Given the description of an element on the screen output the (x, y) to click on. 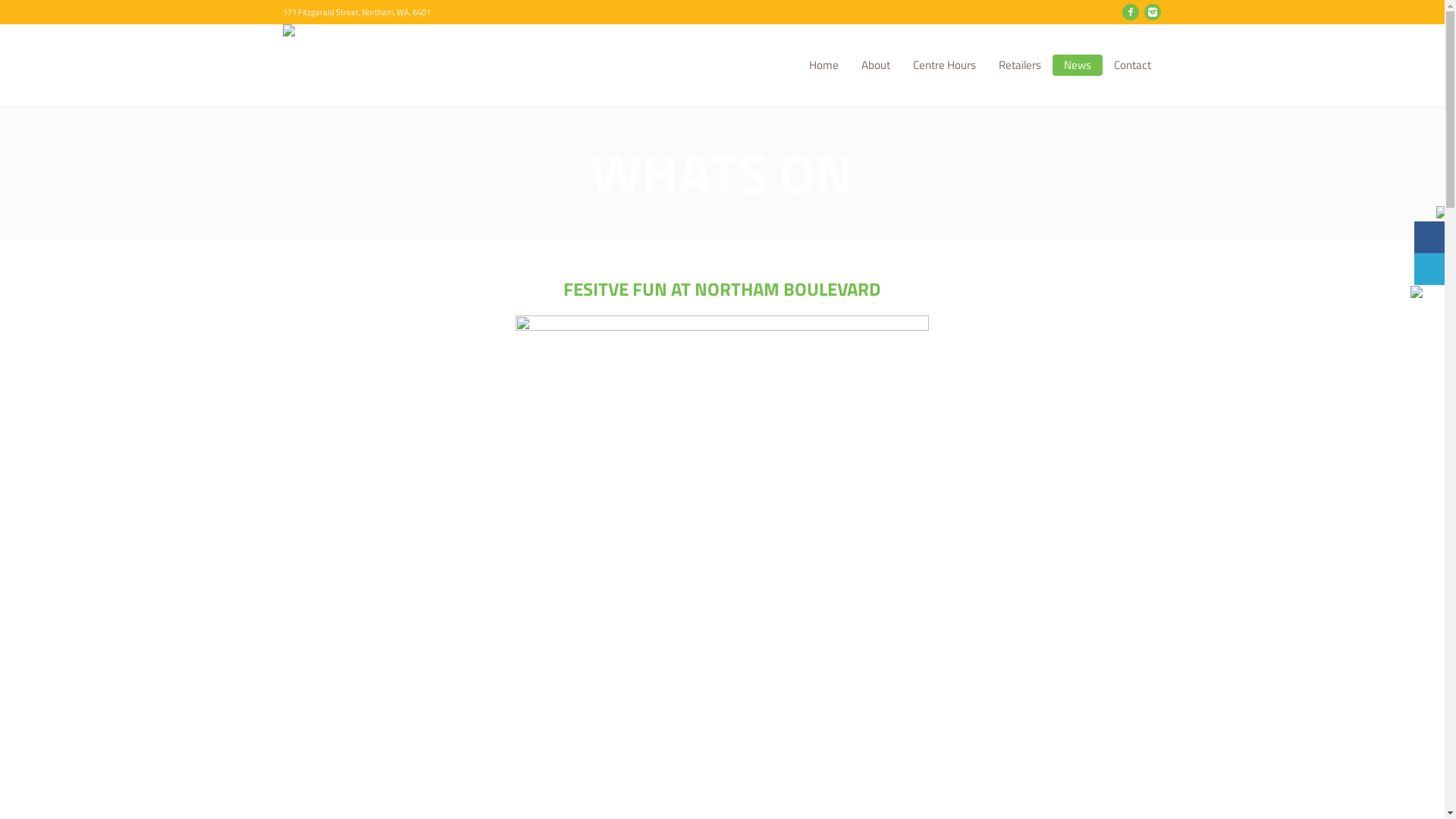
instagram Element type: hover (1151, 11)
Contact Element type: text (1132, 64)
News Element type: text (1077, 64)
Centre Hours Element type: text (943, 64)
About Element type: text (874, 64)
Show Buttons Element type: hover (1442, 212)
Share On Twitter Element type: hover (1431, 269)
Share On Facebook Element type: hover (1431, 237)
Share This With Your Friends Element type: hover (1429, 252)
Home Element type: text (823, 64)
Retailers Element type: text (1019, 64)
Facebook Element type: hover (1130, 11)
Hide Buttons Element type: hover (1428, 291)
